Given the description of an element on the screen output the (x, y) to click on. 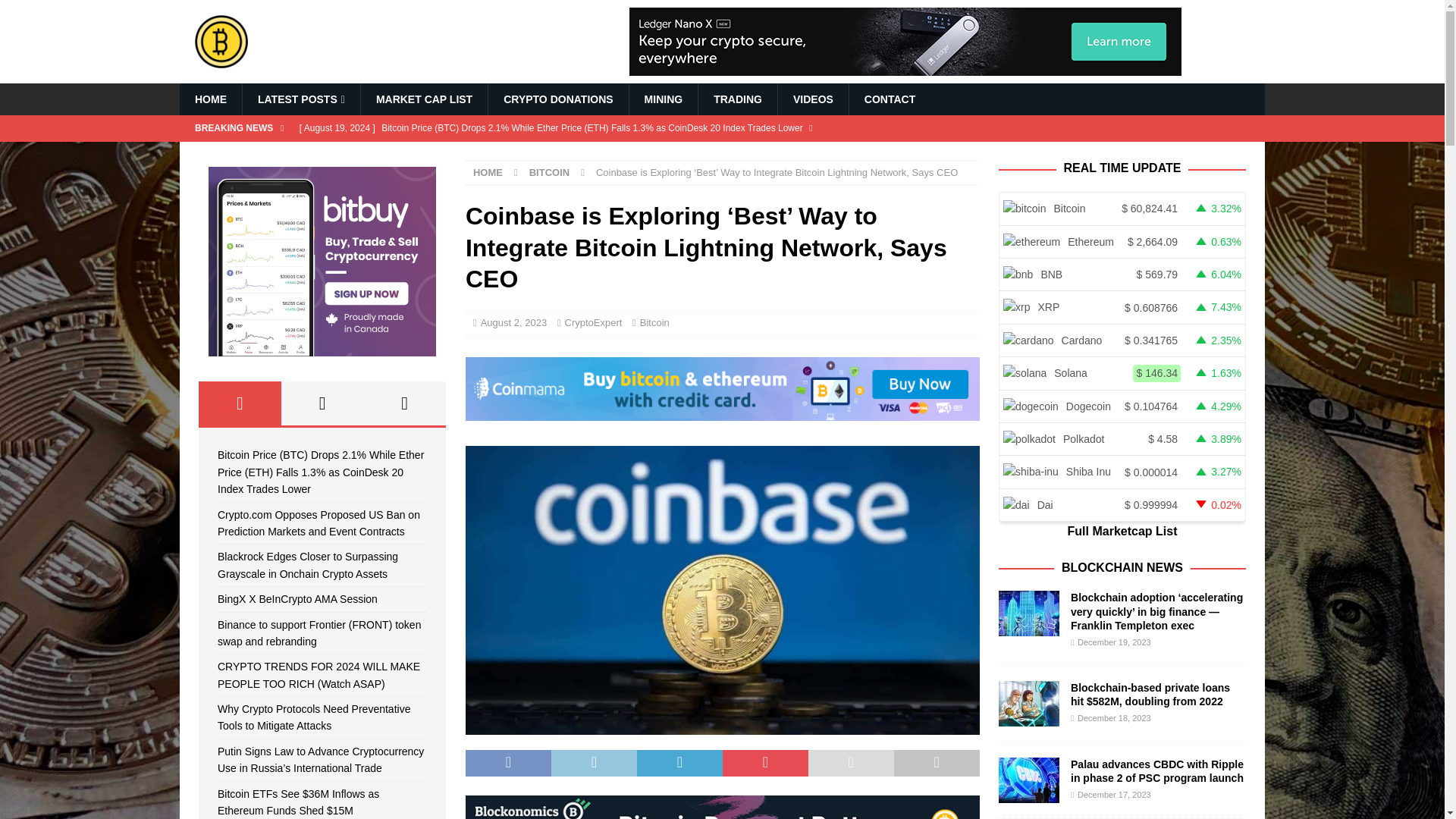
LATEST POSTS (300, 99)
HOME (210, 99)
